Given the description of an element on the screen output the (x, y) to click on. 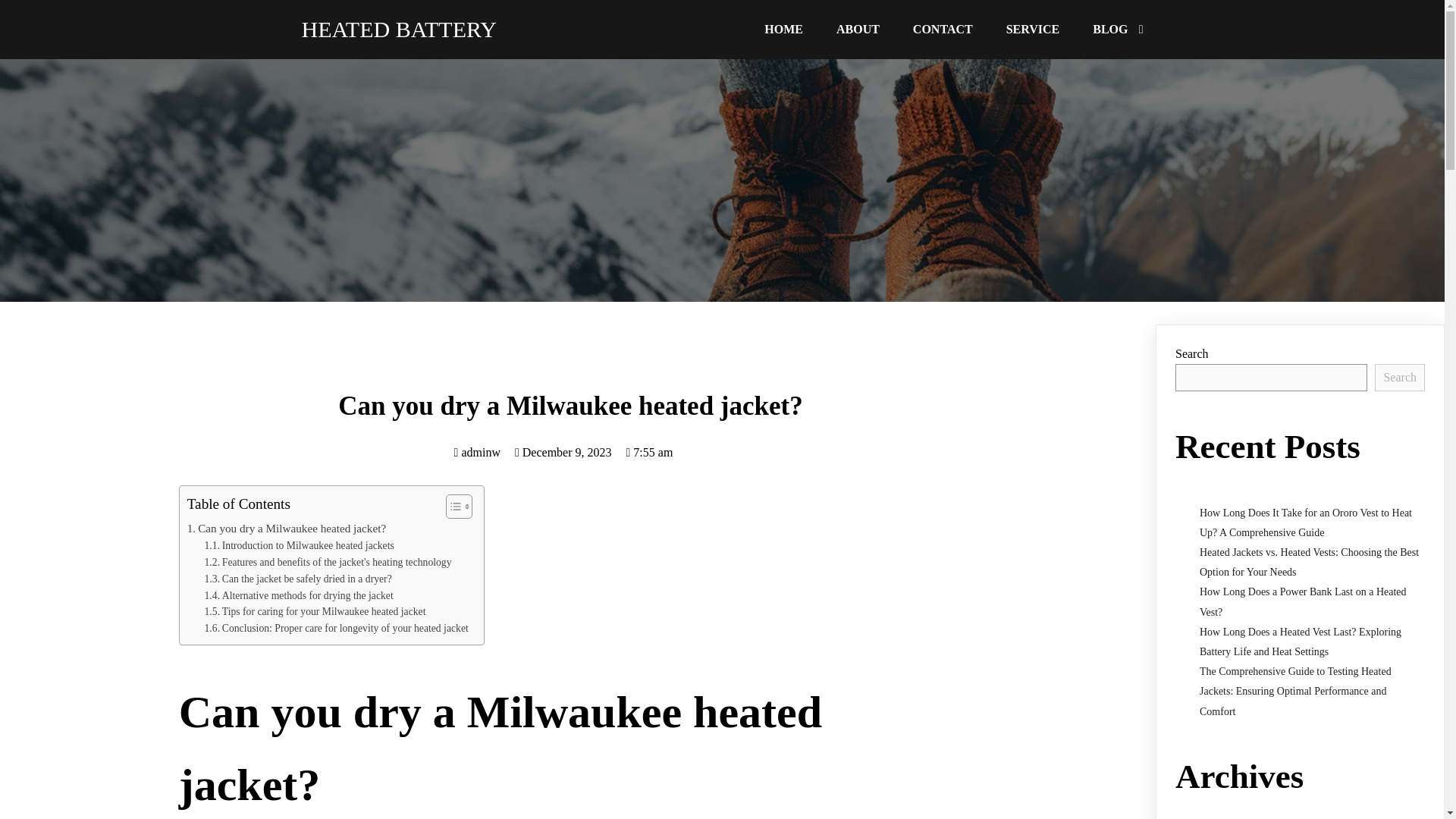
Introduction to Milwaukee heated jackets (299, 545)
HOME (783, 29)
Features and benefits of the jacket's heating technology (328, 562)
Can the jacket be safely dried in a dryer? (298, 579)
Can the jacket be safely dried in a dryer? (298, 579)
Alternative methods for drying the jacket (299, 596)
BLOG (1117, 29)
Can you dry a Milwaukee heated jacket? (286, 528)
Can you dry a Milwaukee heated jacket? (286, 528)
7:55 am (649, 451)
